Given the description of an element on the screen output the (x, y) to click on. 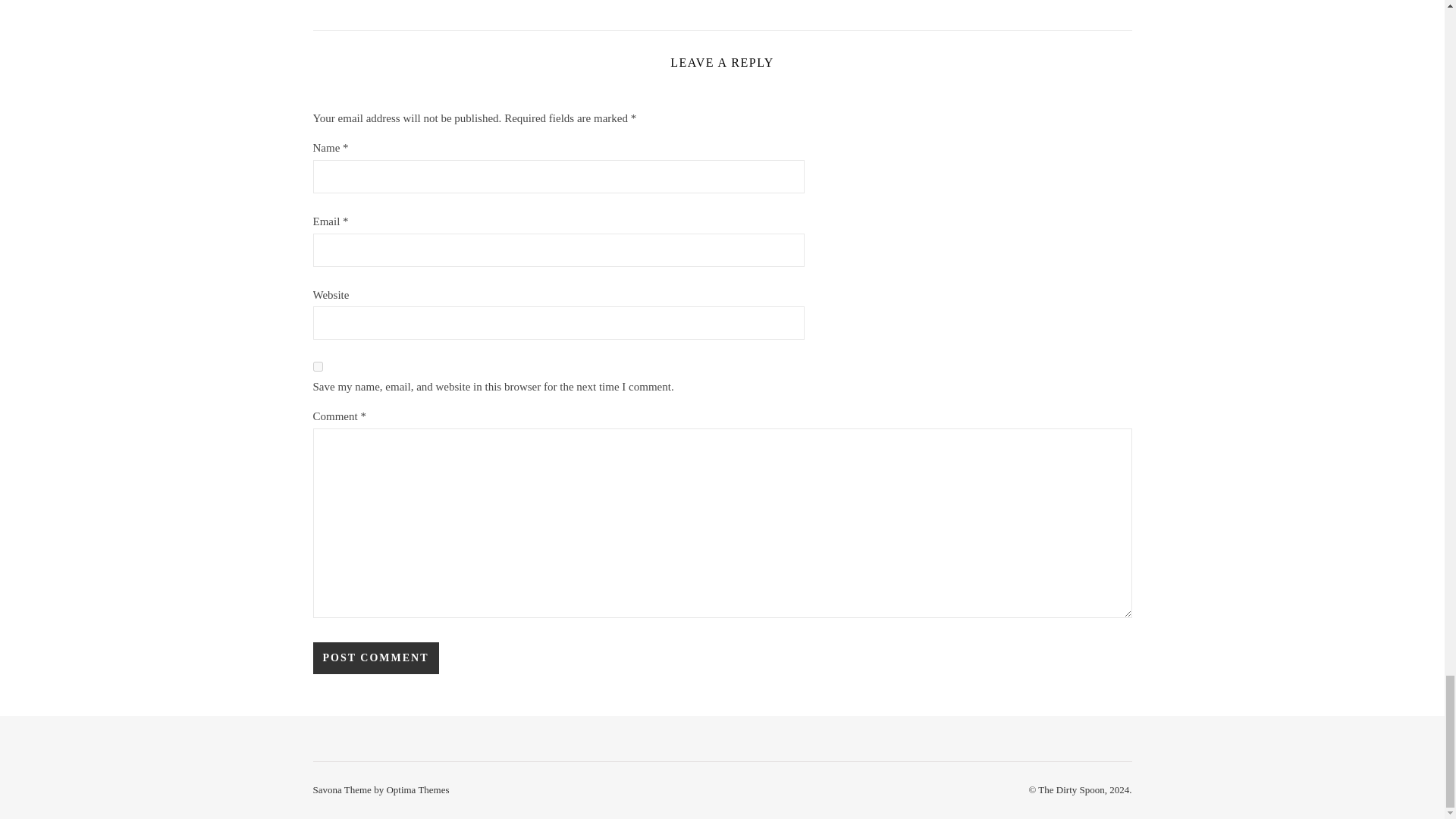
Post Comment (375, 658)
Post Comment (375, 658)
yes (317, 366)
